Given the description of an element on the screen output the (x, y) to click on. 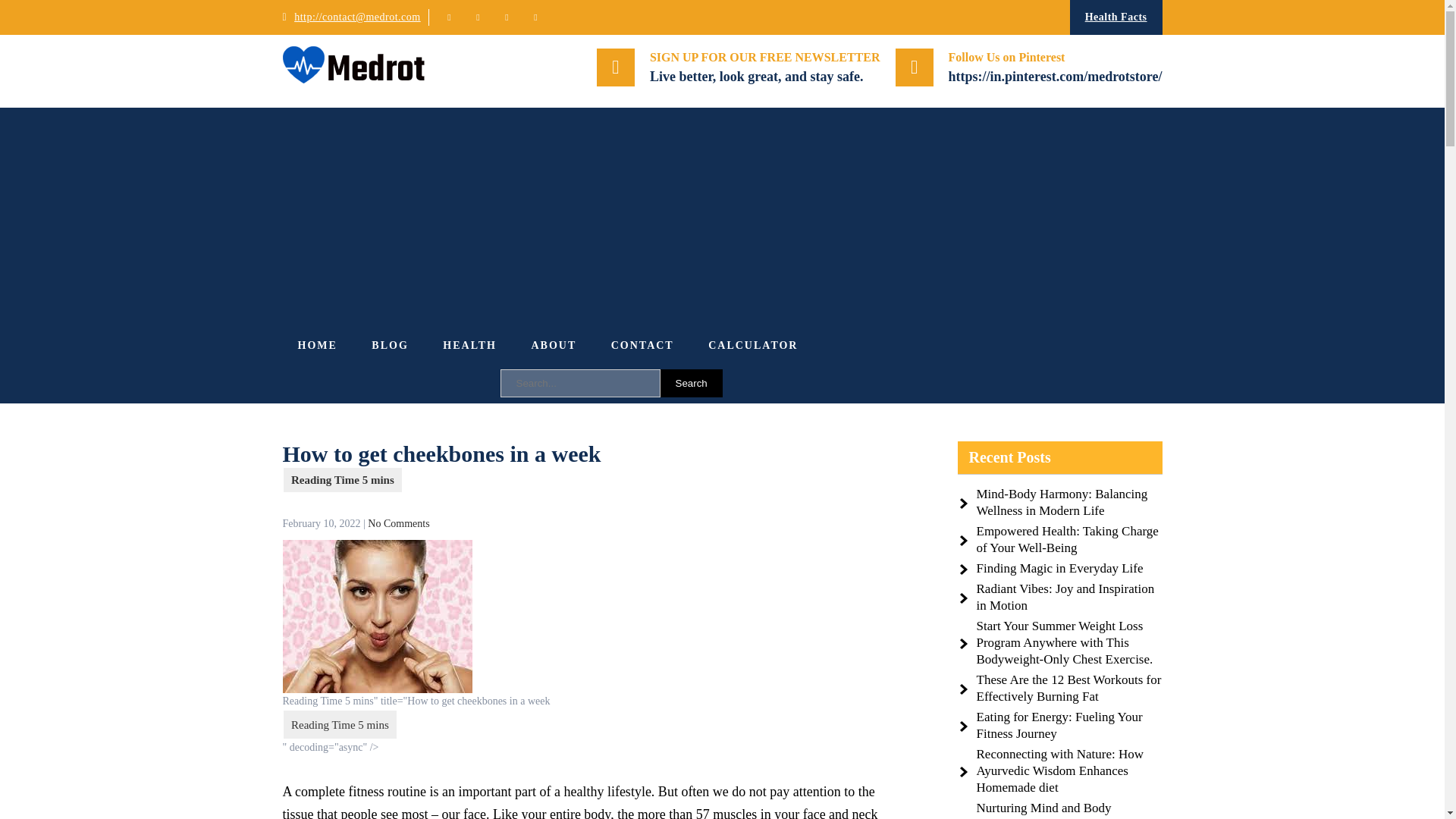
CONTACT (641, 345)
ABOUT (553, 345)
No Comments (398, 523)
Search (690, 383)
Pinterest (535, 17)
MEDROT.COM (555, 99)
CALCULATOR (752, 345)
TouTube (506, 17)
BLOG (389, 345)
Health Facts (1115, 17)
Facebook (477, 17)
HEALTH (470, 345)
Empowered Health: Taking Charge of Your Well-Being (1067, 539)
Twitter (449, 17)
